Given the description of an element on the screen output the (x, y) to click on. 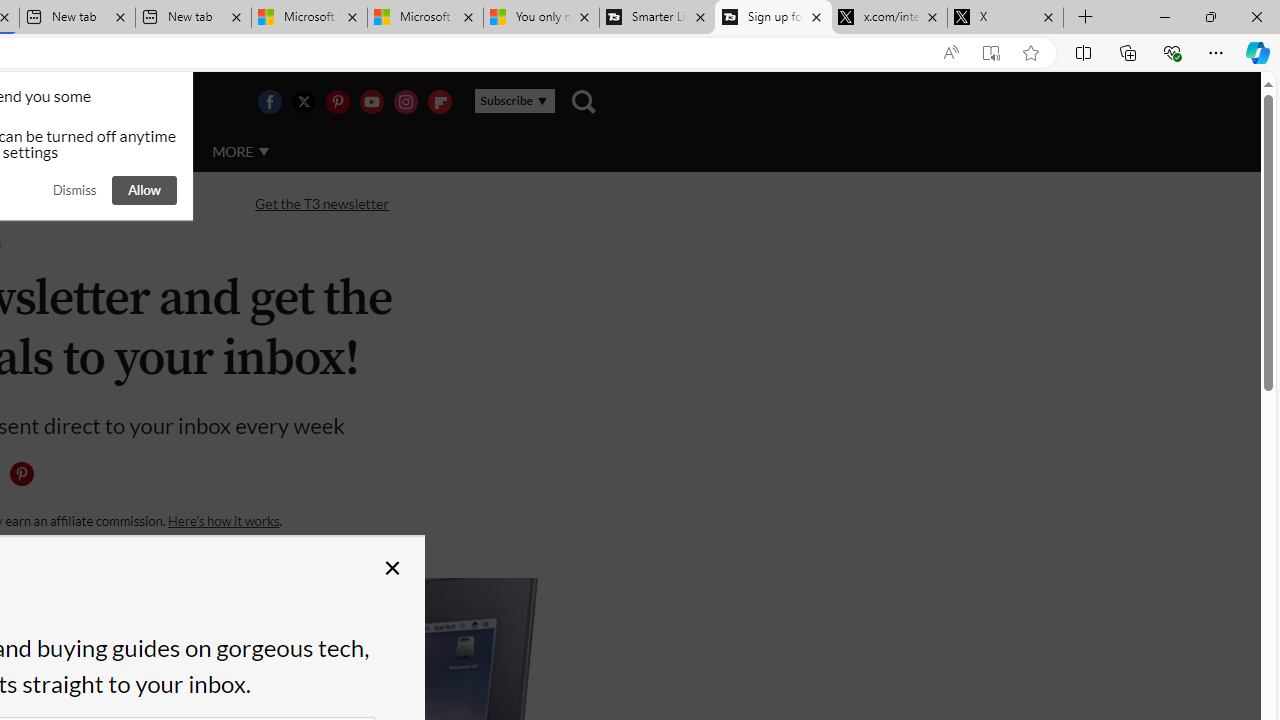
Class: svg-arrow-down (264, 151)
AUTO (153, 151)
Visit us on Facebook (269, 101)
Streaming TV and movies (105, 202)
Visit us on Instagram (405, 101)
Class: navigation__search (583, 101)
Allow (144, 190)
